Given the description of an element on the screen output the (x, y) to click on. 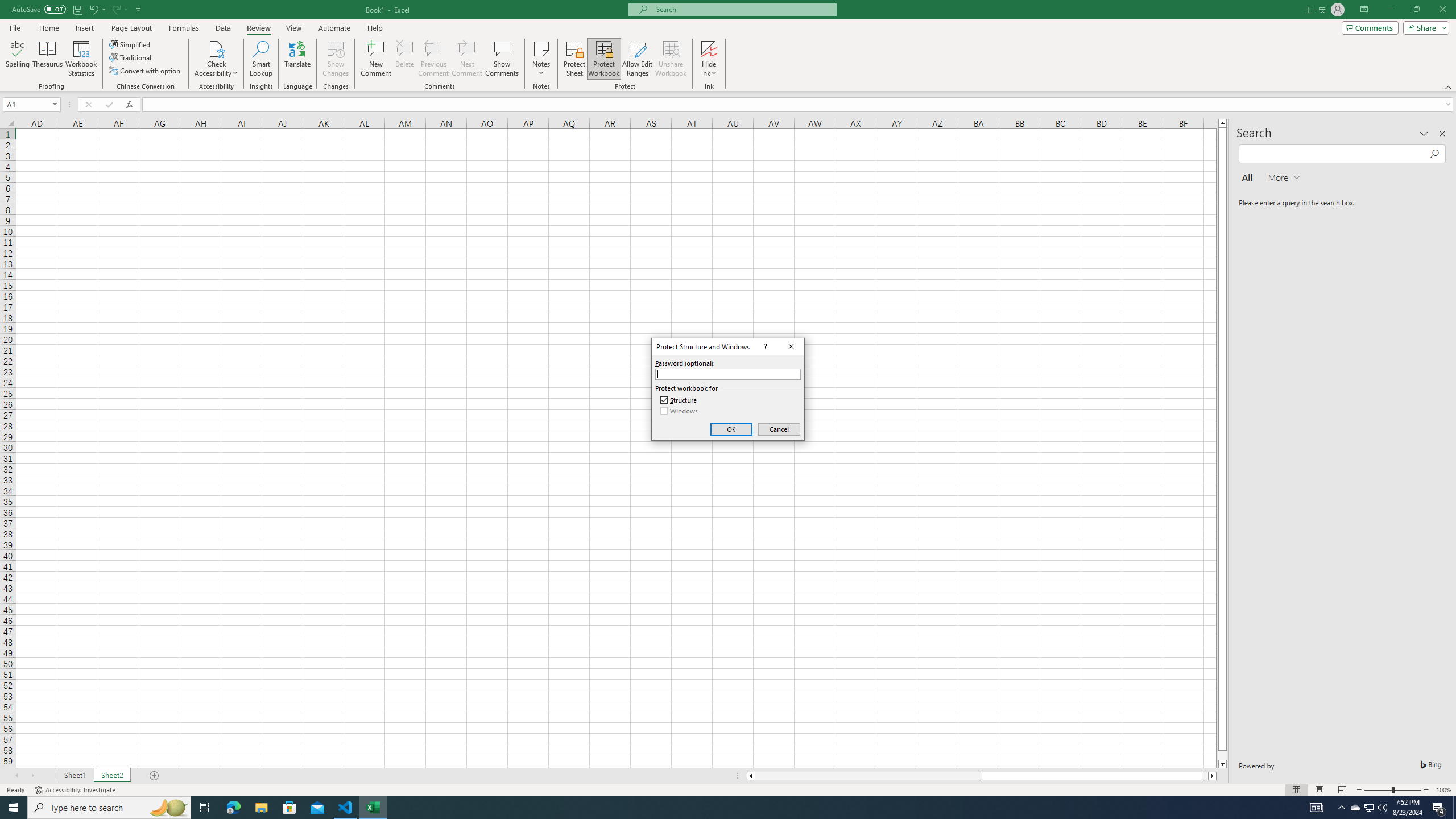
User Promoted Notification Area (1368, 807)
Check Accessibility (215, 48)
Microsoft Edge (233, 807)
Page left (868, 775)
Microsoft Store (289, 807)
AutoSave (1368, 807)
Visual Studio Code - 1 running window (38, 9)
Delete (345, 807)
Excel - 1 running window (404, 58)
Structure (373, 807)
Type here to search (679, 399)
